Given the description of an element on the screen output the (x, y) to click on. 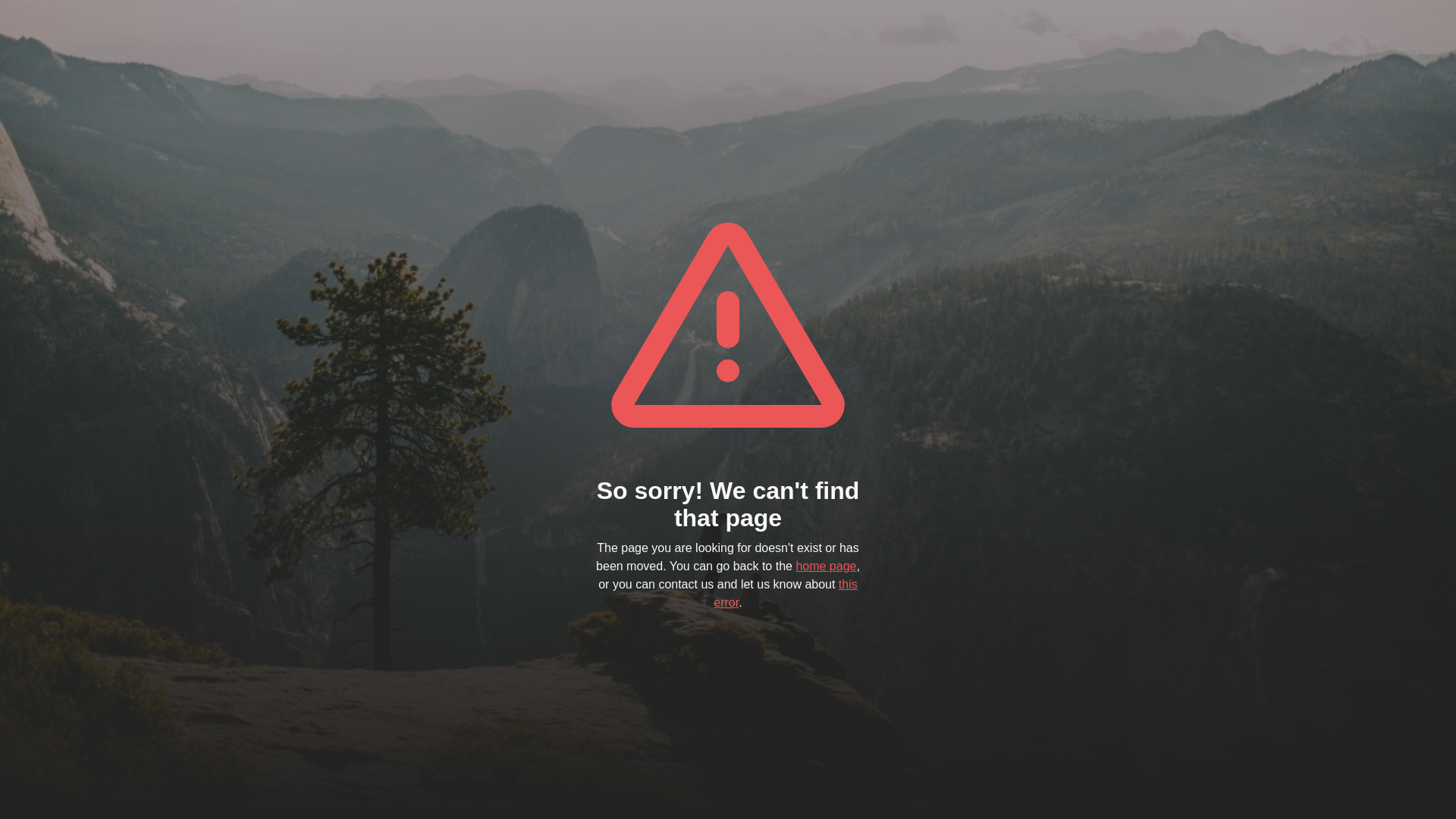
this error Element type: text (784, 592)
home page Element type: text (825, 565)
